Given the description of an element on the screen output the (x, y) to click on. 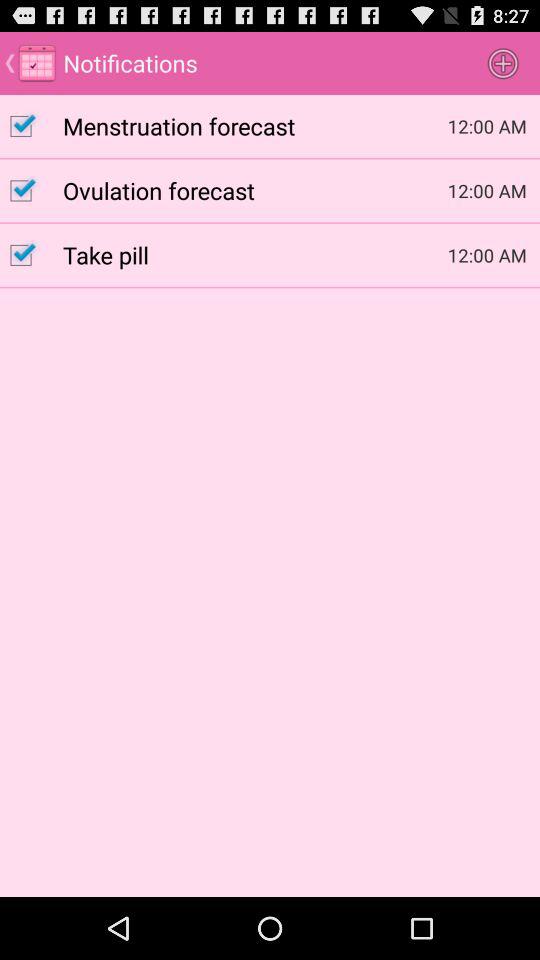
turn off the ovulation forecast icon (255, 190)
